Given the description of an element on the screen output the (x, y) to click on. 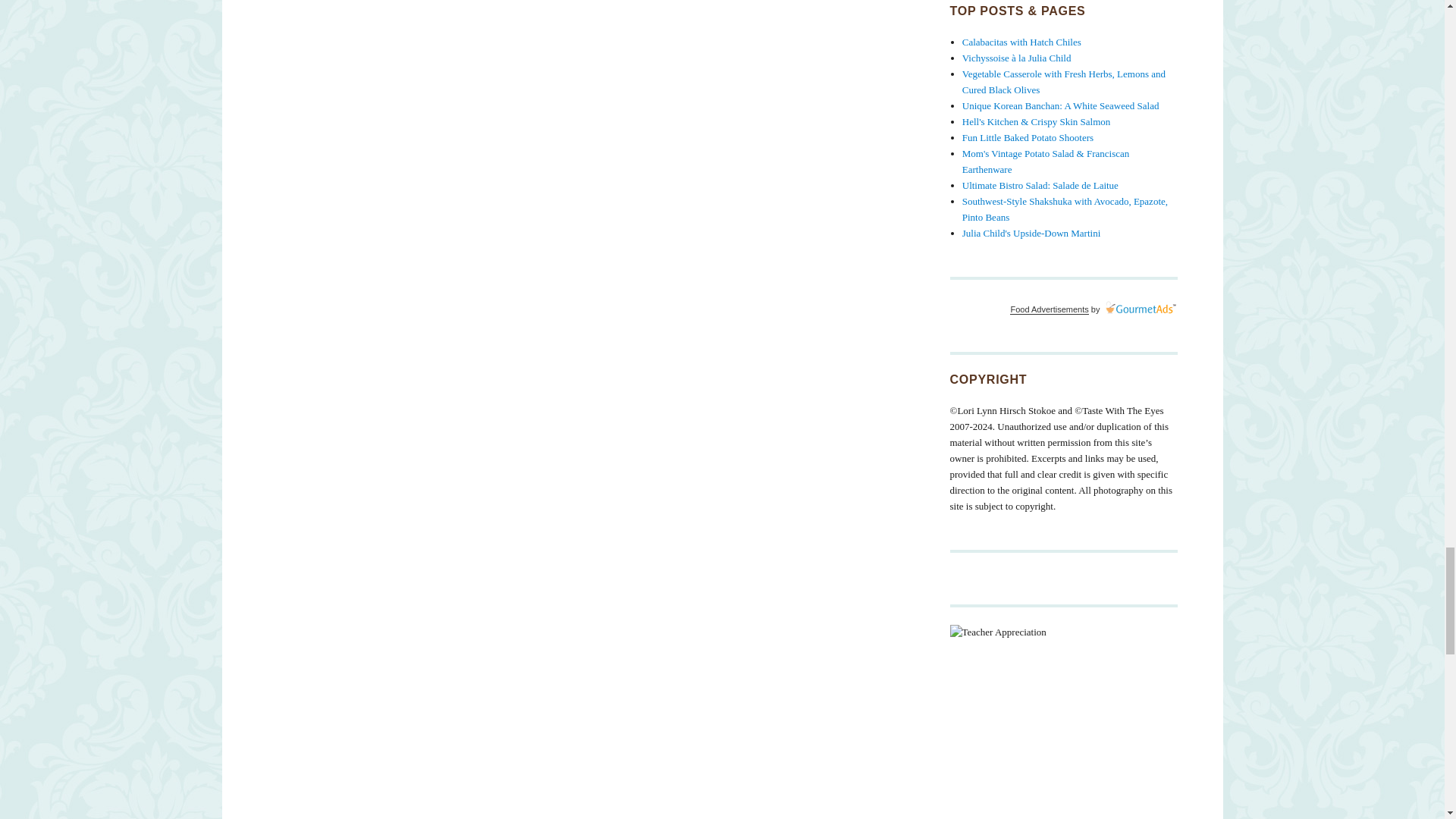
Food Advertisements (1048, 308)
